Given the description of an element on the screen output the (x, y) to click on. 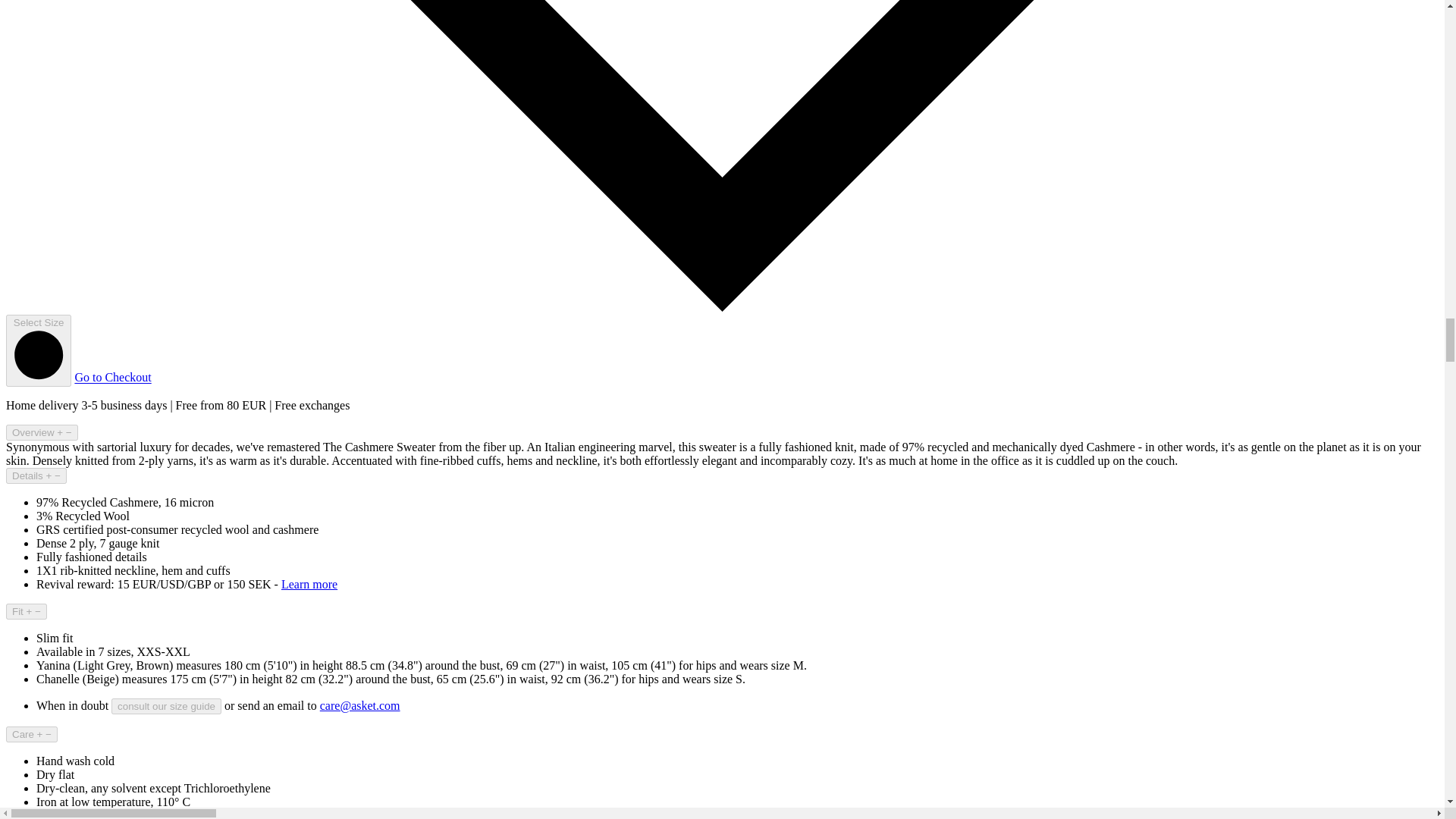
Select Size (38, 349)
Go to Checkout (112, 377)
Learn more (309, 584)
consult our size guide (166, 706)
